Given the description of an element on the screen output the (x, y) to click on. 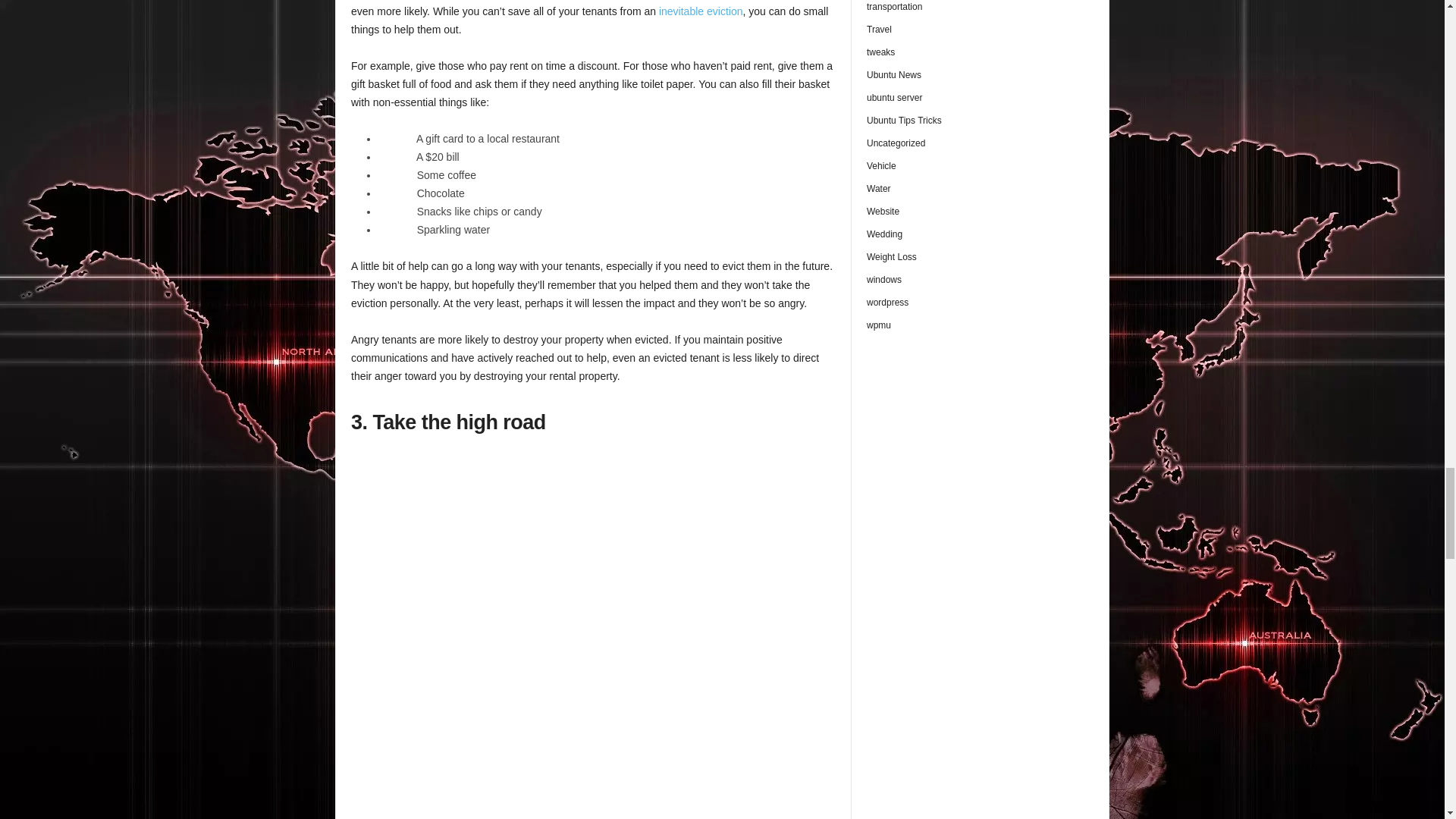
inevitable eviction (700, 10)
